Given the description of an element on the screen output the (x, y) to click on. 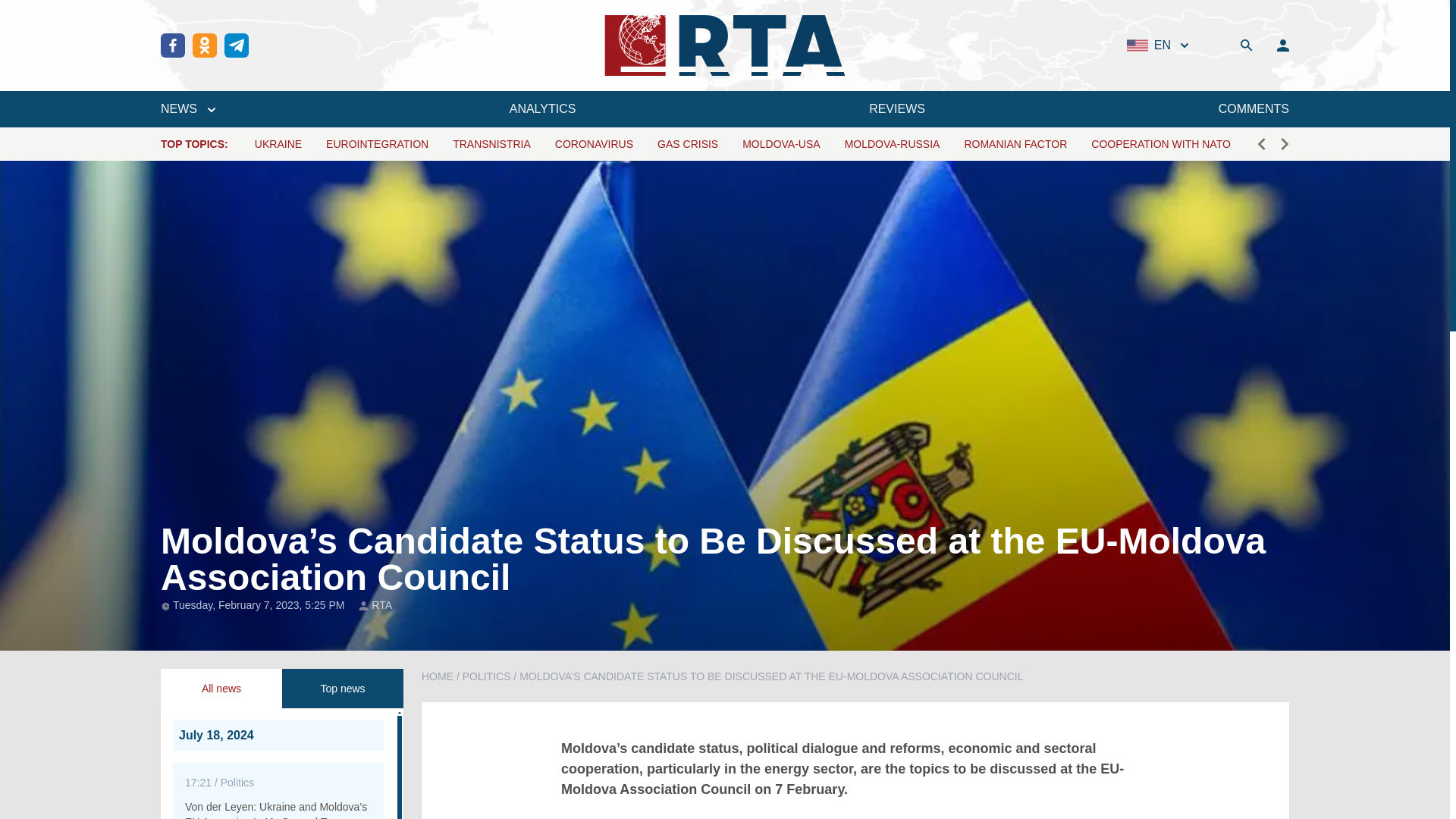
CORONAVIRUS (593, 143)
EN (1159, 45)
RTA (381, 604)
UKRAINE (277, 143)
MOLDOVA-USA (780, 143)
NEWS (187, 108)
EUROINTEGRATION (377, 143)
REVIEWS (896, 108)
Tuesday, February 7, 2023, 5:25 PM (260, 604)
TRANSNISTRIA (491, 143)
COMMENTS (1253, 108)
Top news (342, 688)
GAS CRISIS (687, 143)
COOPERATION WITH NATO (1160, 143)
MOLDOVA-RUSSIA (892, 143)
